Given the description of an element on the screen output the (x, y) to click on. 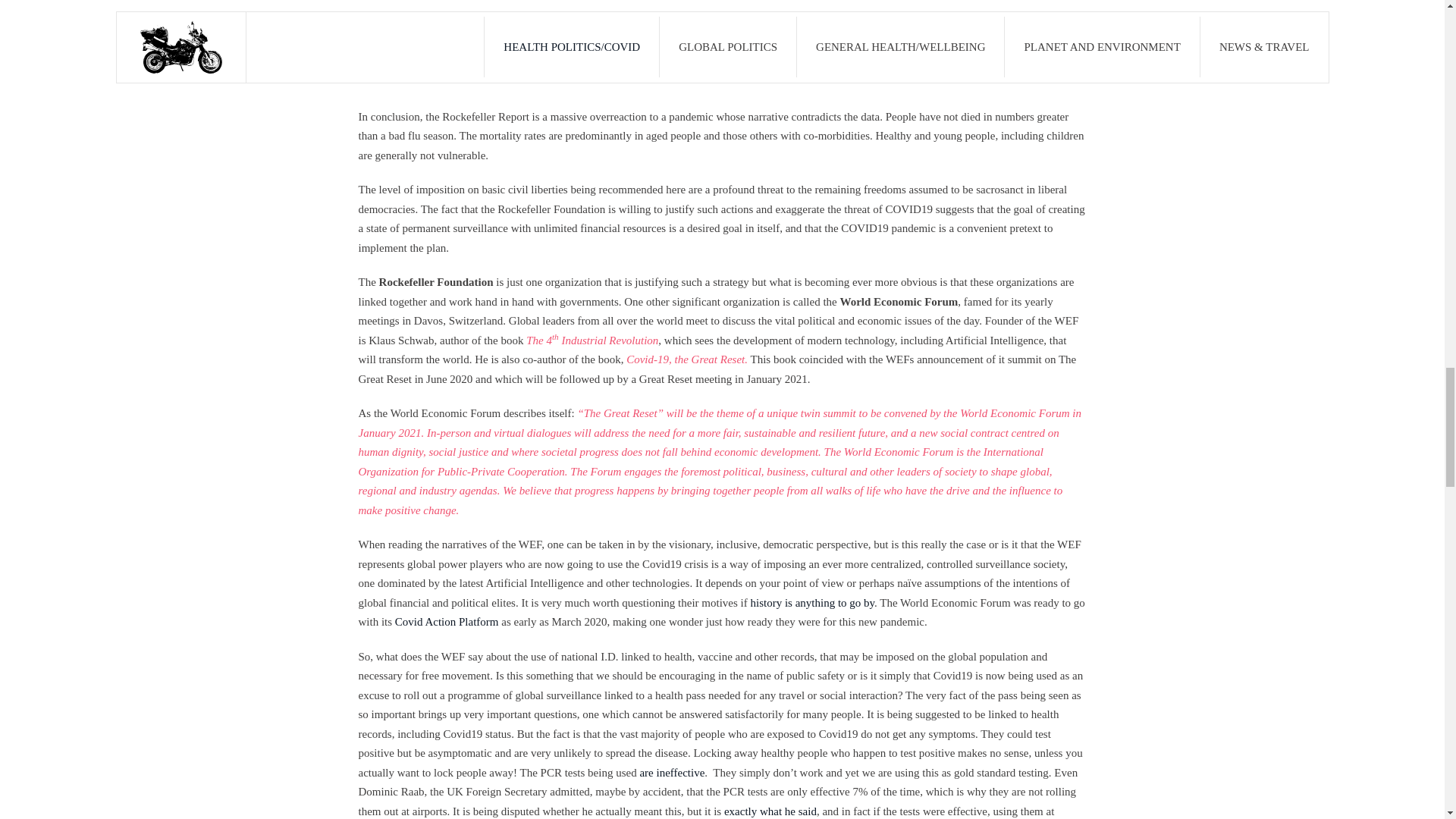
are ineffective (671, 772)
history is anything to go by (812, 603)
exactly what he said (769, 811)
Covid Action Platform (446, 621)
